Given the description of an element on the screen output the (x, y) to click on. 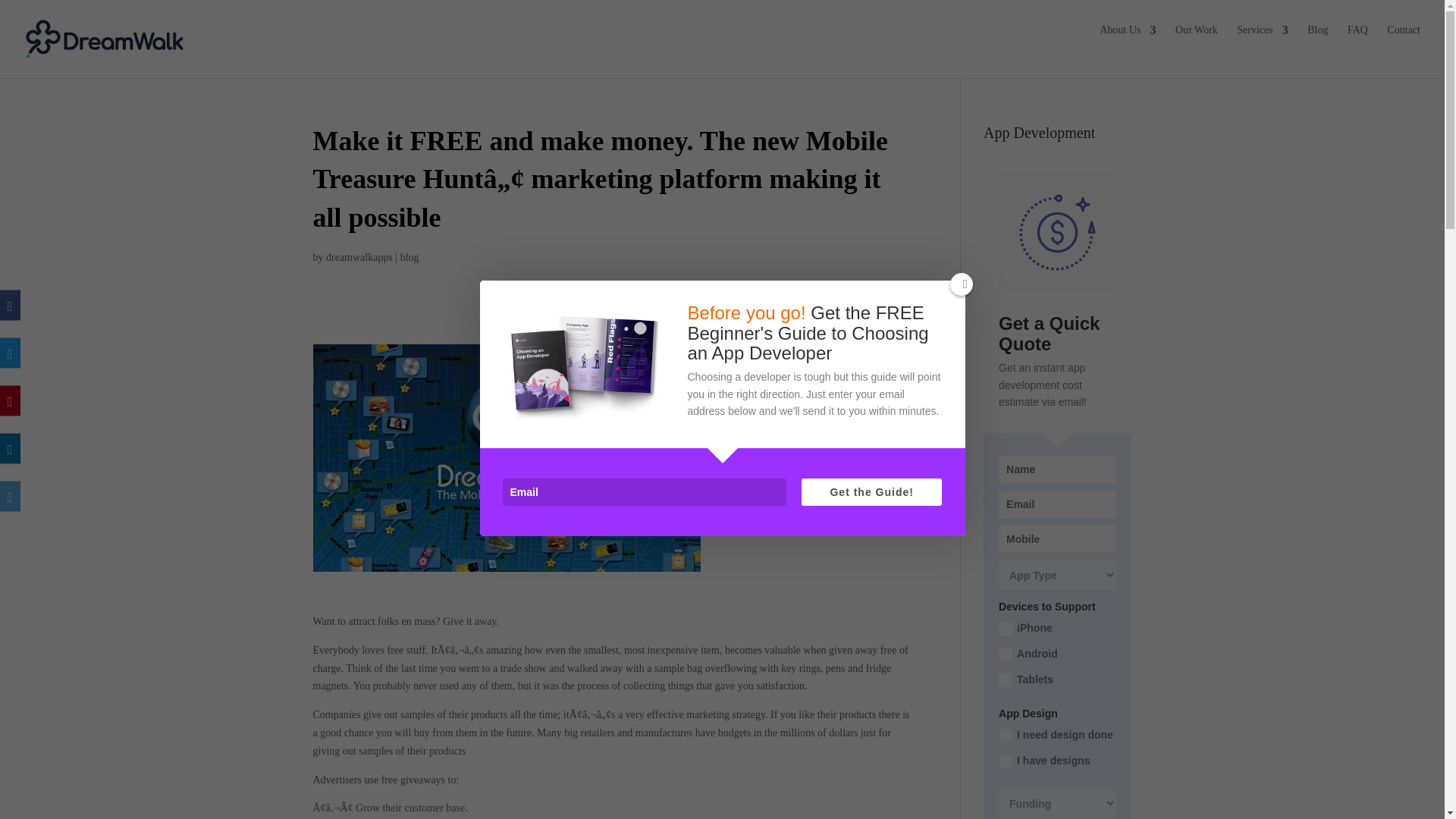
Our Work (1195, 42)
Posts by dreamwalkapps (359, 256)
Contact (1404, 42)
About Us (1127, 42)
Services (1261, 42)
